Given the description of an element on the screen output the (x, y) to click on. 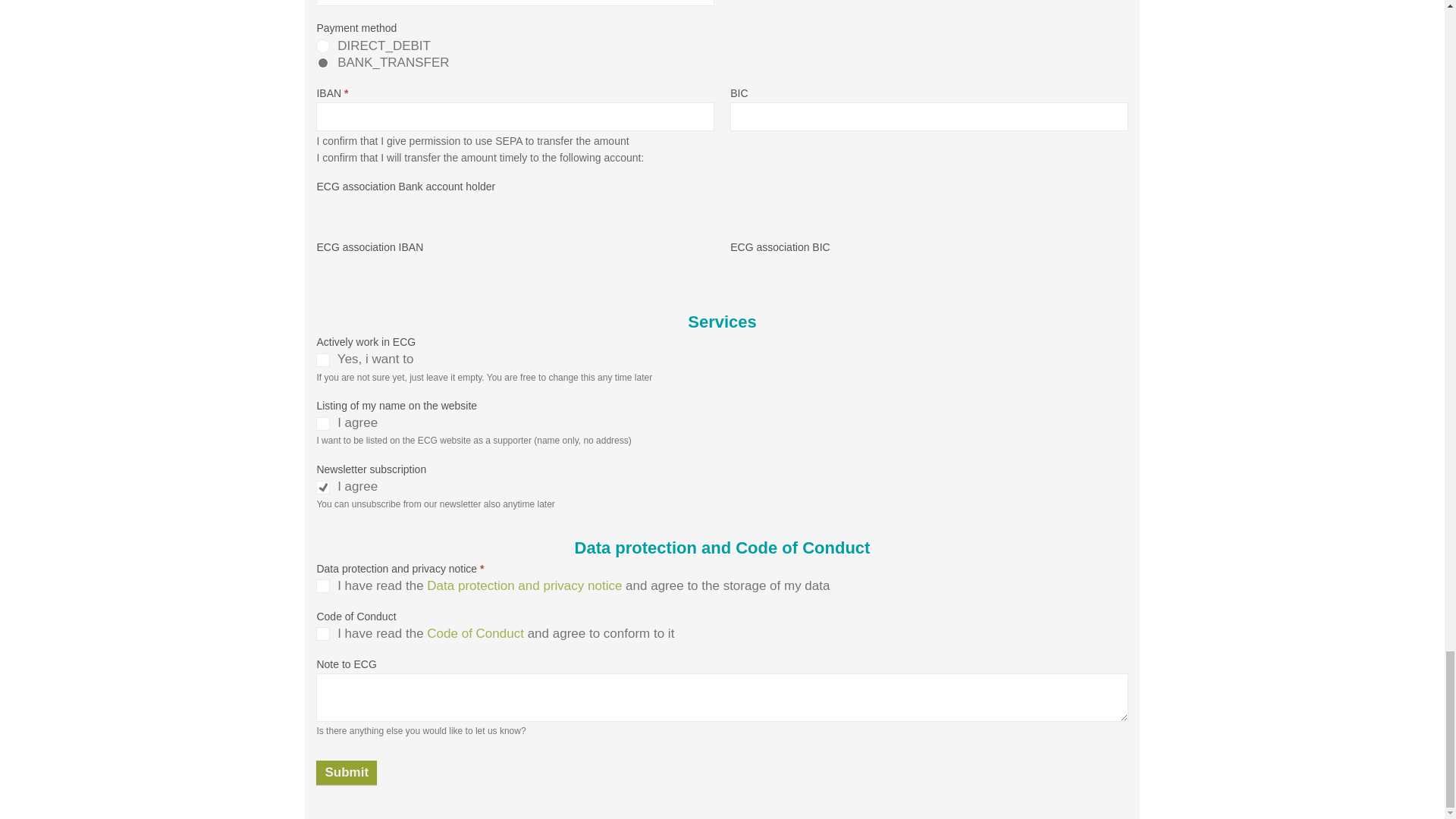
Data protection and privacy notice (523, 585)
Code of Conduct (475, 633)
Submit (346, 772)
